Given the description of an element on the screen output the (x, y) to click on. 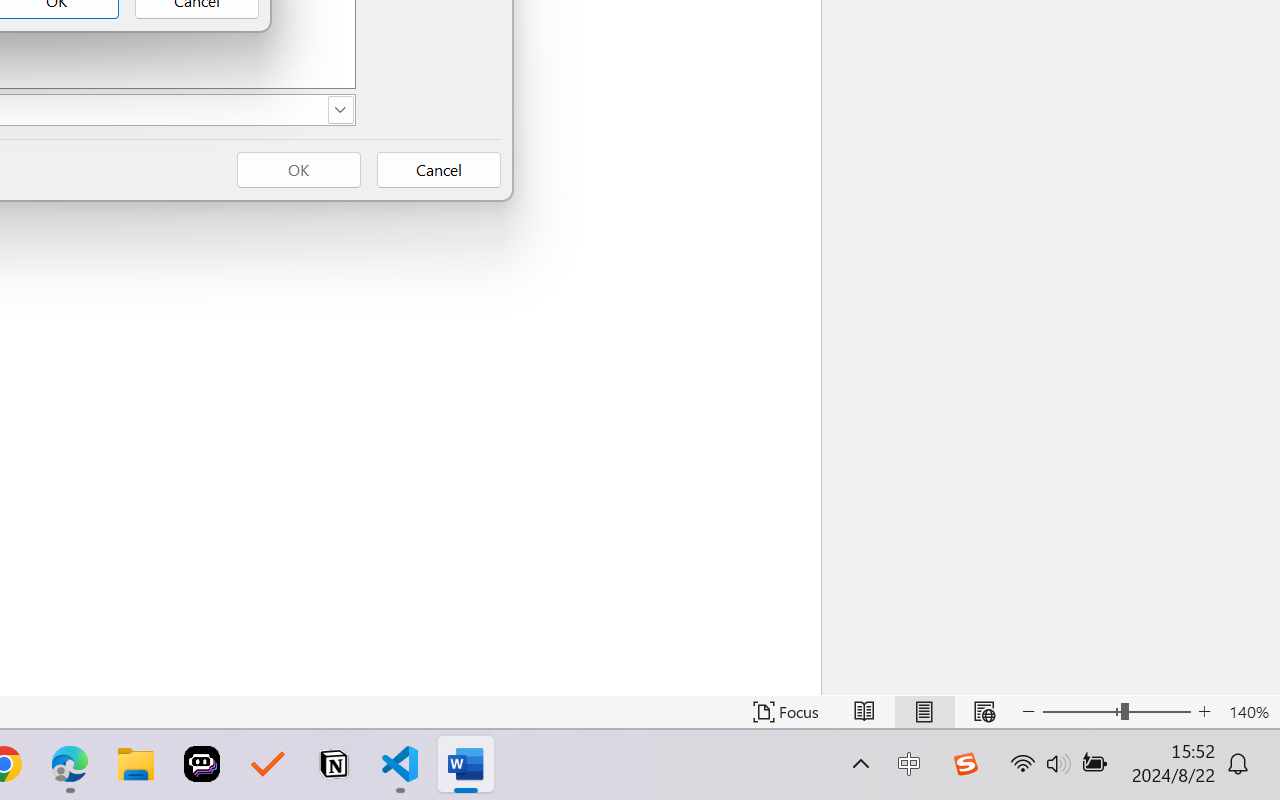
Class: Image (965, 764)
Zoom 140% (1249, 712)
Cancel (438, 169)
Zoom (1116, 712)
Print Layout (924, 712)
Focus  (786, 712)
OK (298, 169)
